Given the description of an element on the screen output the (x, y) to click on. 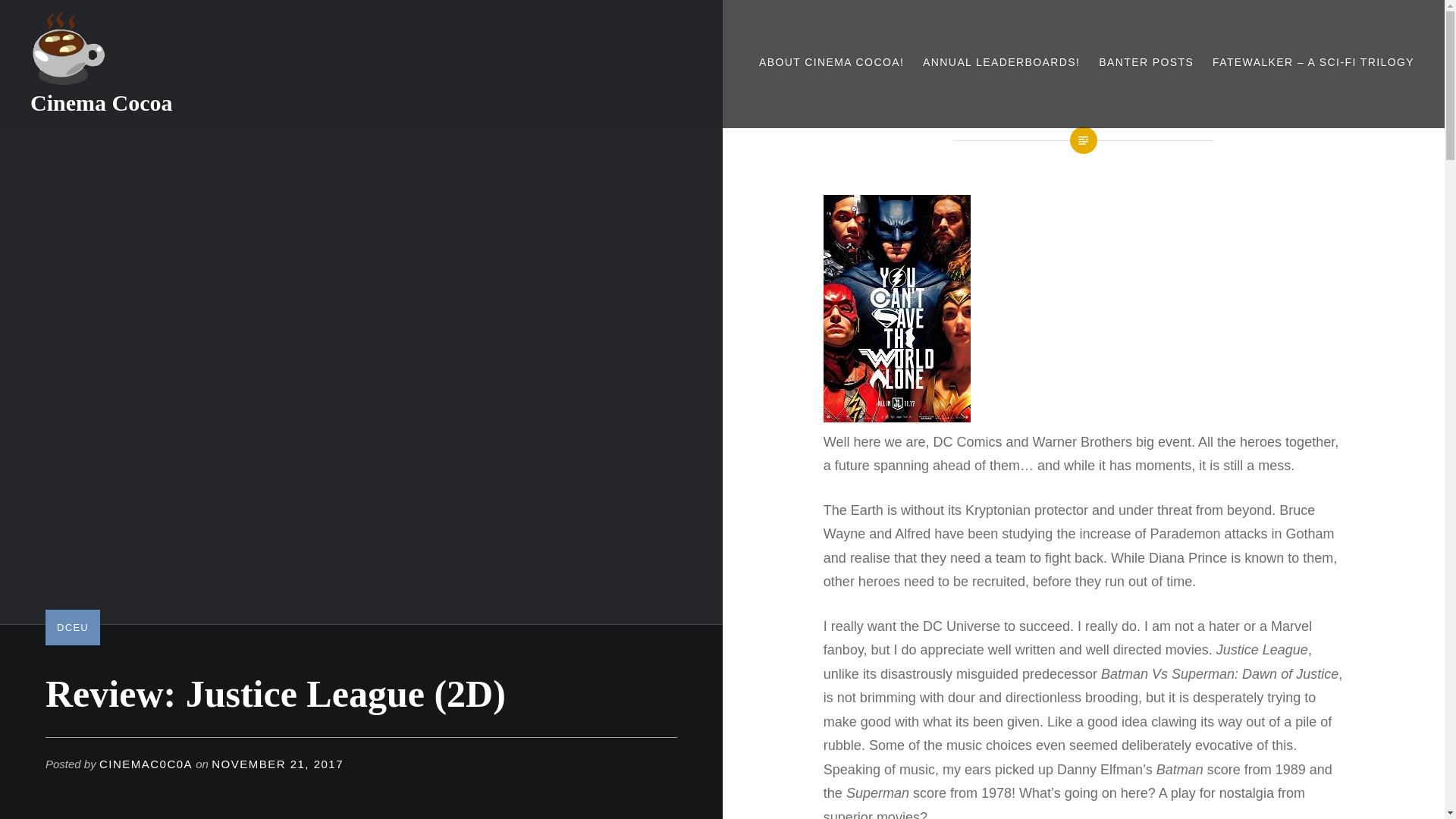
CINEMAC0C0A (145, 763)
ABOUT CINEMA COCOA! (831, 62)
DCEU (72, 627)
ANNUAL LEADERBOARDS! (1001, 62)
Cinema Cocoa (100, 102)
NOVEMBER 21, 2017 (277, 763)
BANTER POSTS (1146, 62)
